Given the description of an element on the screen output the (x, y) to click on. 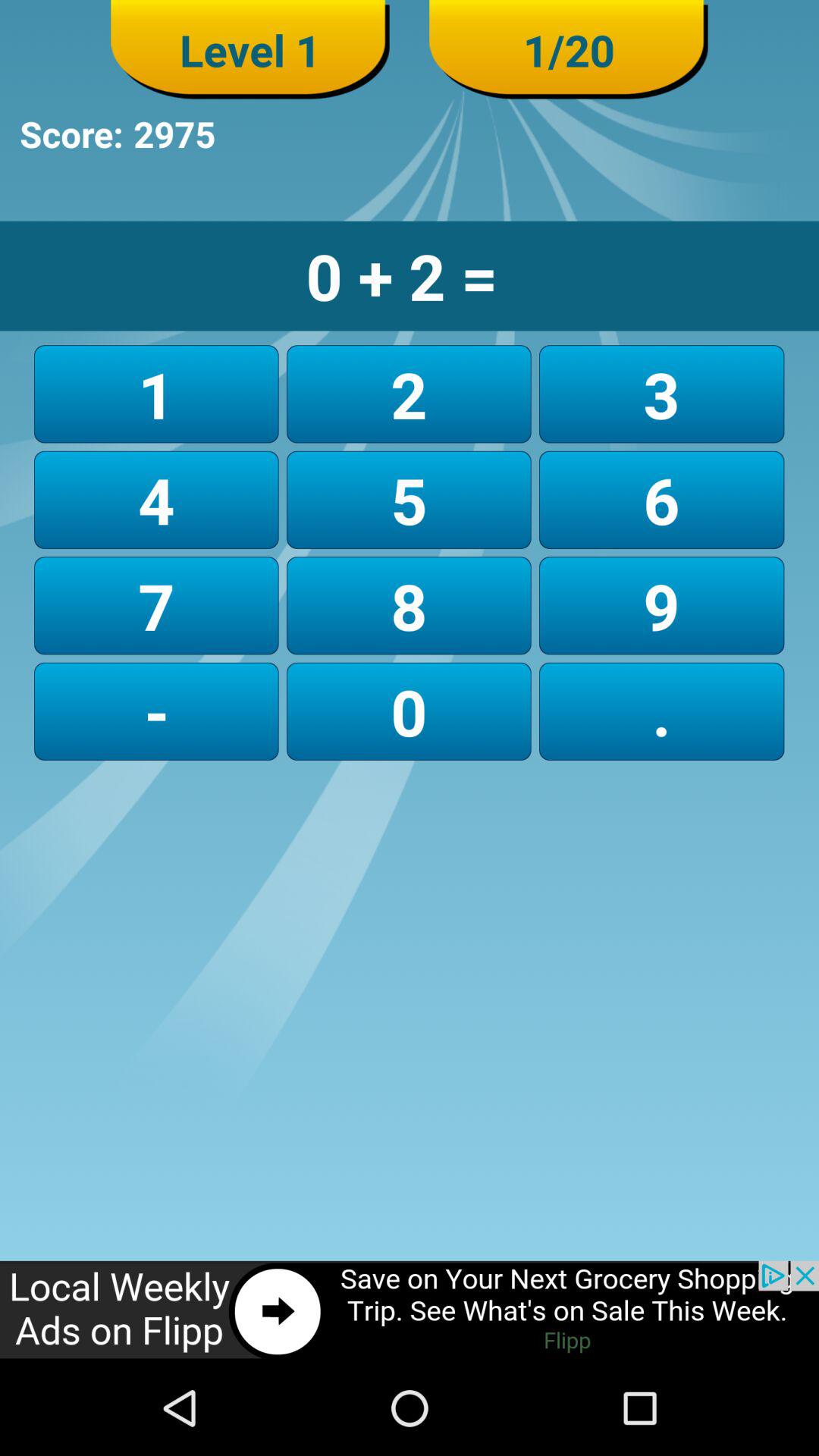
open advertisement (409, 1310)
